Given the description of an element on the screen output the (x, y) to click on. 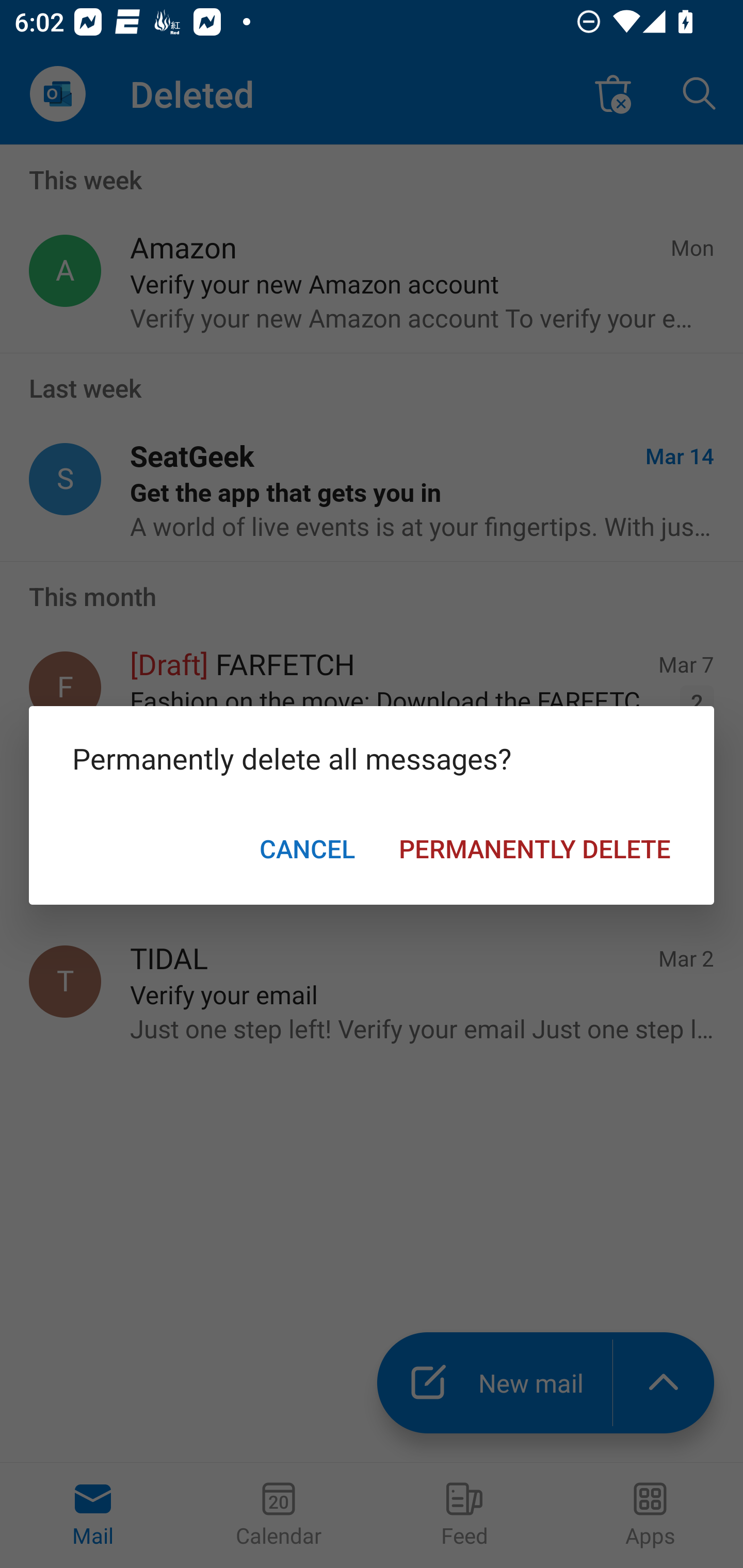
CANCEL (306, 847)
PERMANENTLY DELETE (534, 847)
